Given the description of an element on the screen output the (x, y) to click on. 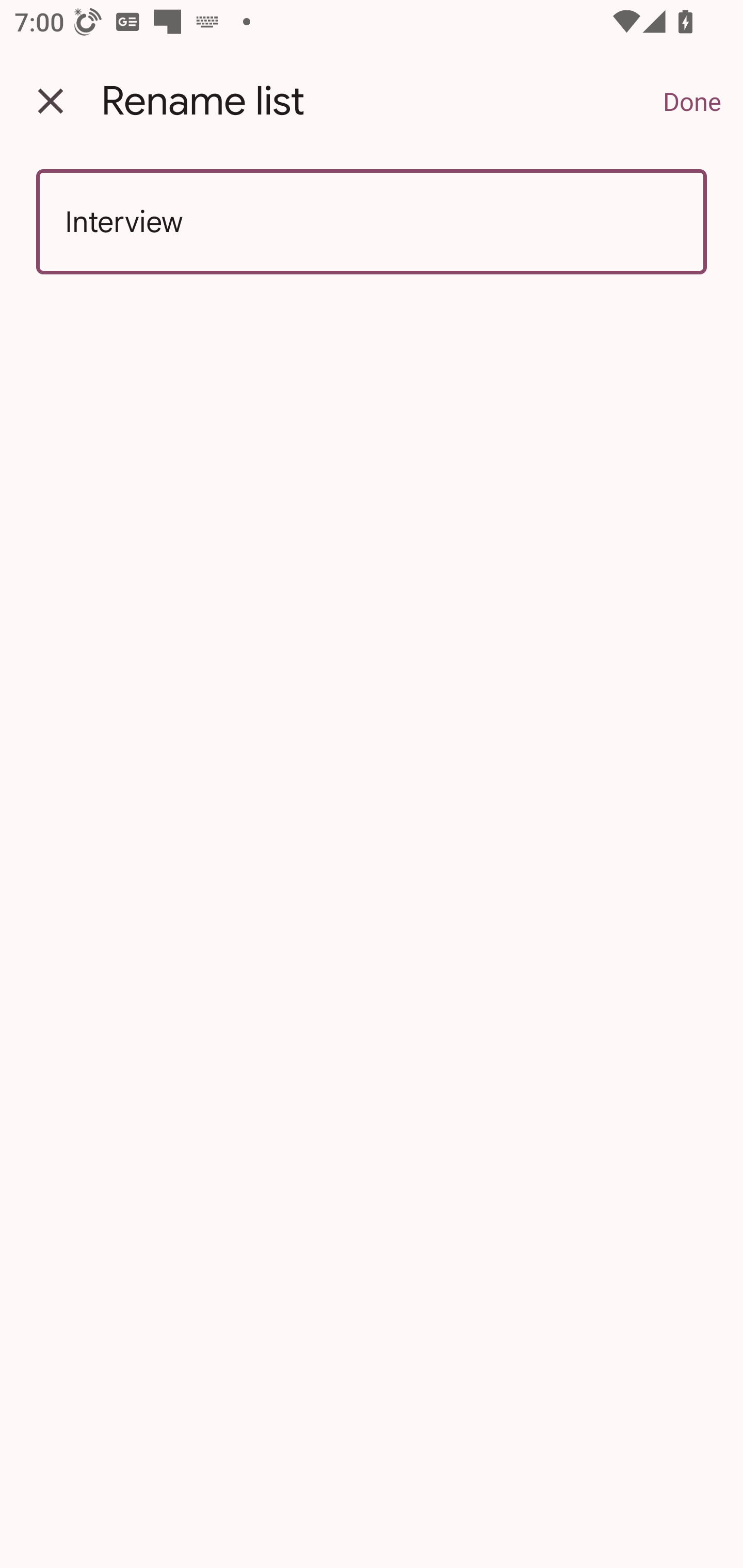
Back (50, 101)
Done (692, 101)
Interview (371, 221)
